Given the description of an element on the screen output the (x, y) to click on. 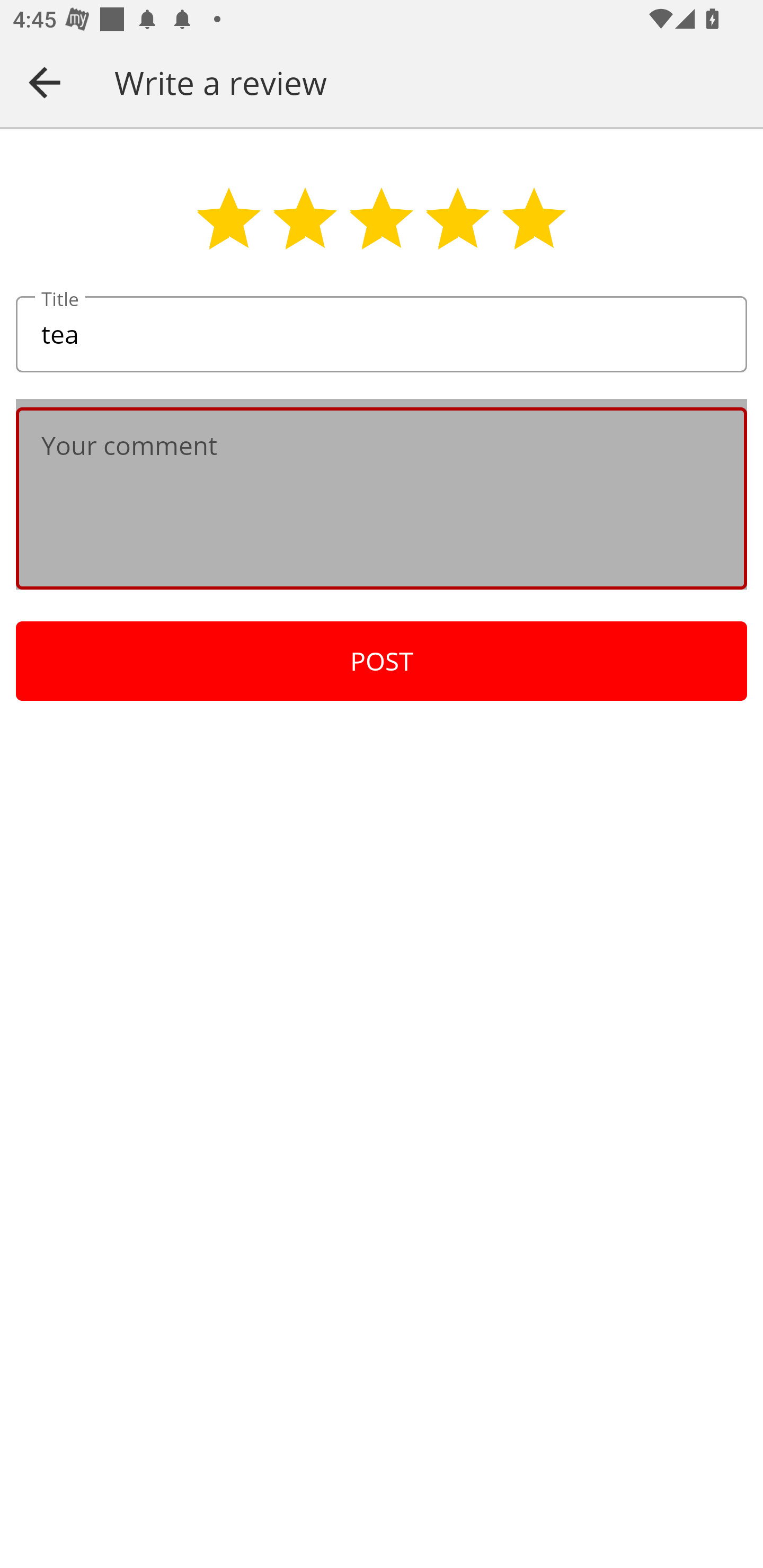
Navigate up (44, 82)
tea (381, 334)
Your comment (381, 498)
POST (381, 660)
